Given the description of an element on the screen output the (x, y) to click on. 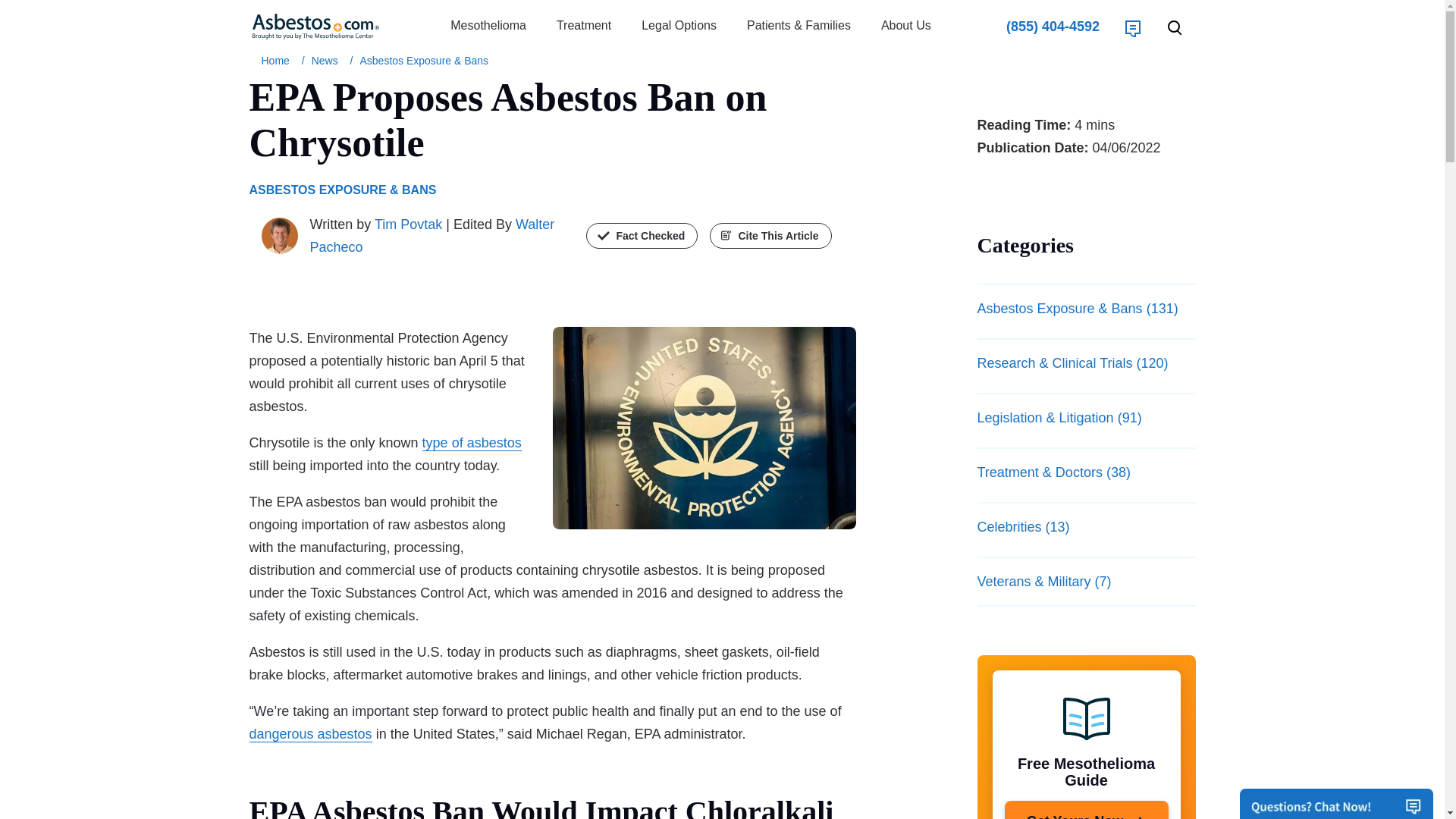
Mesothelioma Center (277, 60)
Treatment (583, 25)
Mesothelioma (487, 25)
